Given the description of an element on the screen output the (x, y) to click on. 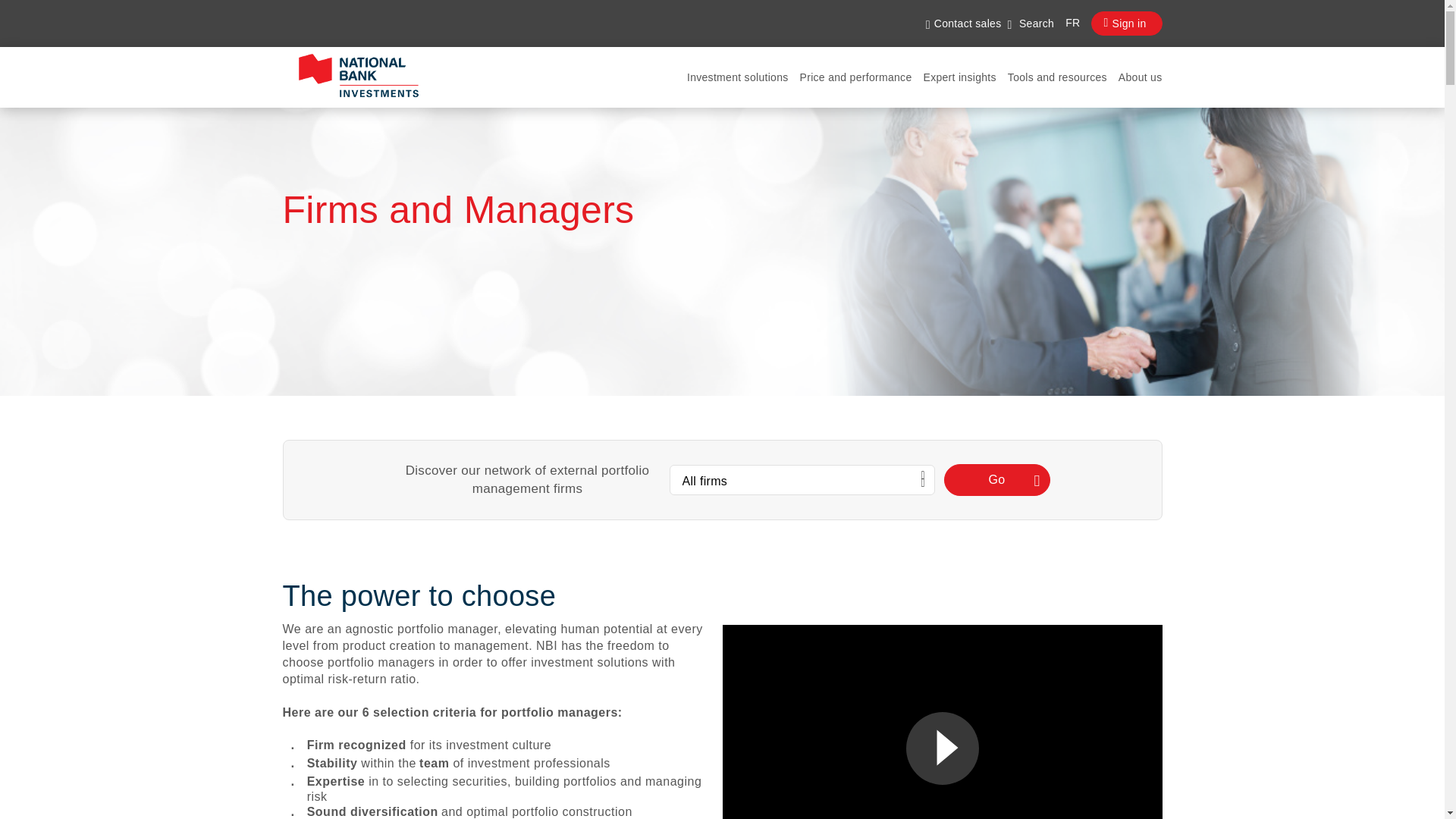
Search (1030, 23)
Price and performance (855, 77)
Investment solutions (738, 77)
Sign in (1125, 23)
Expert insights (959, 77)
Tools and resources (1056, 77)
Contact sales (963, 23)
FR (1067, 23)
